Given the description of an element on the screen output the (x, y) to click on. 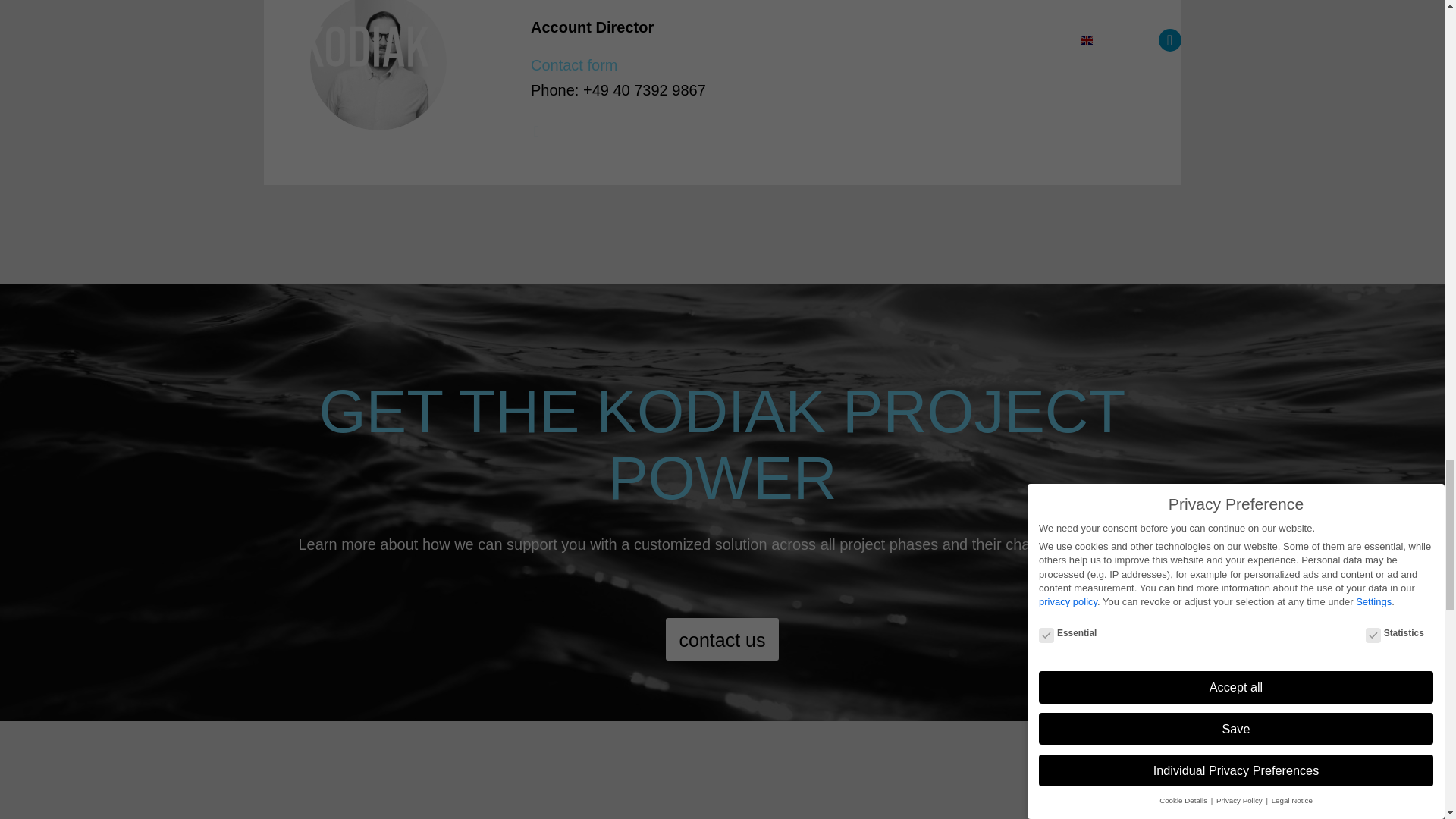
contact us (721, 639)
Contact form (574, 64)
